Given the description of an element on the screen output the (x, y) to click on. 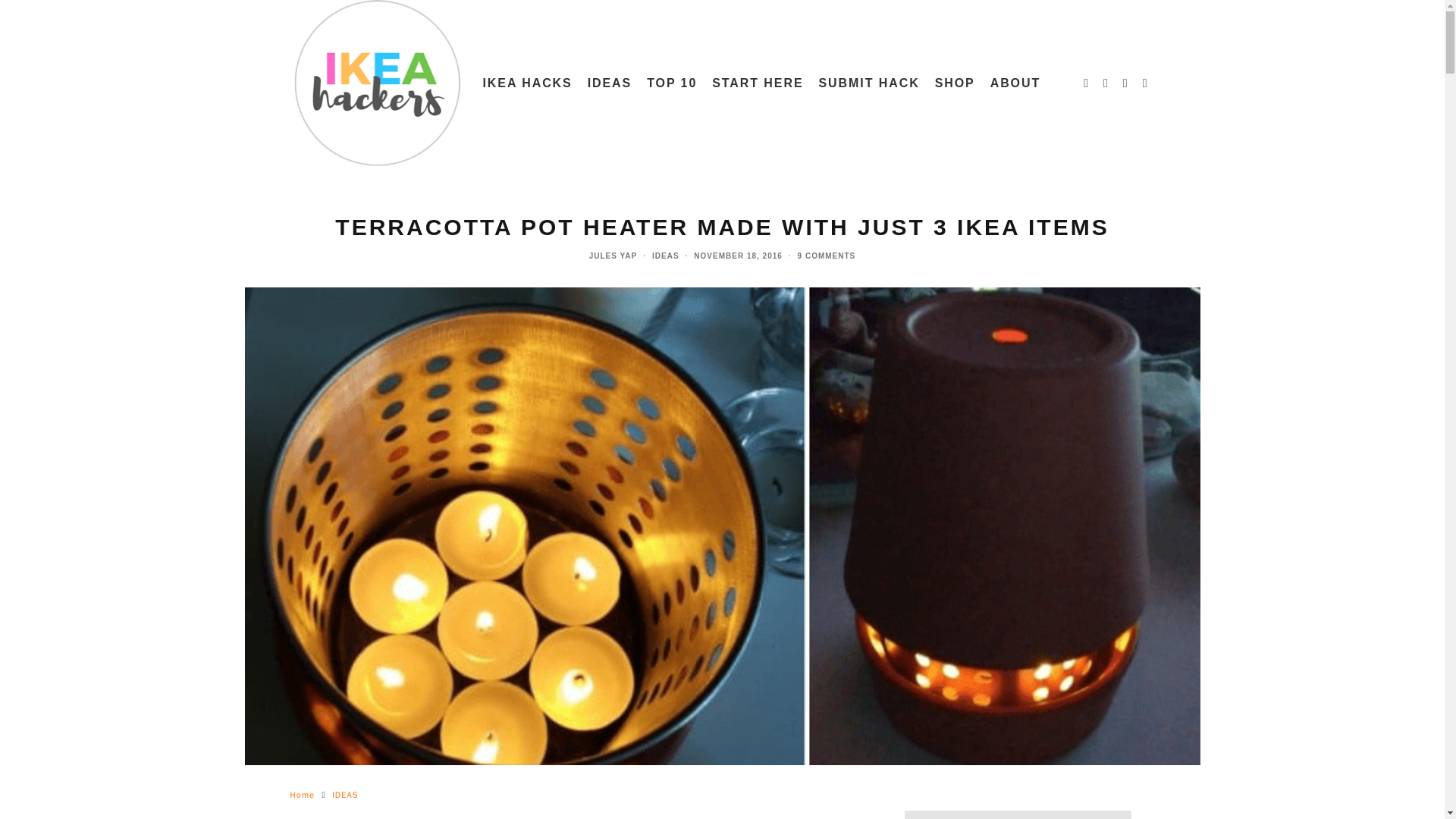
Hack of the Year (671, 83)
More about IKEA Hackers (1015, 83)
IKEA HACKS (526, 83)
SUBMIT HACK (868, 83)
How to send in your hack (868, 83)
IDEAS (609, 83)
START HERE (757, 83)
9 COMMENTS (826, 255)
JULES YAP (613, 255)
